Given the description of an element on the screen output the (x, y) to click on. 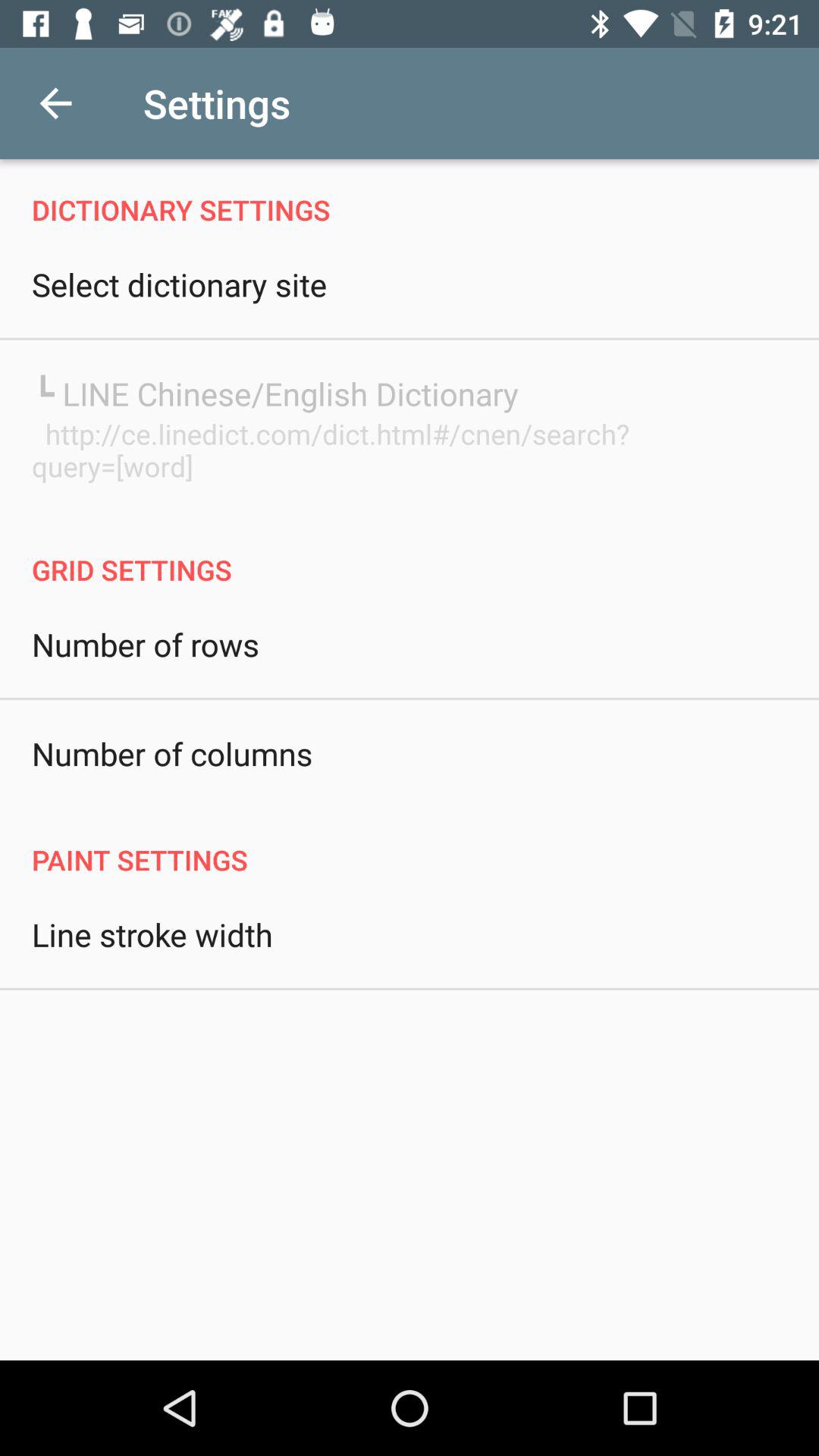
launch item below the http ce linedict icon (409, 553)
